Given the description of an element on the screen output the (x, y) to click on. 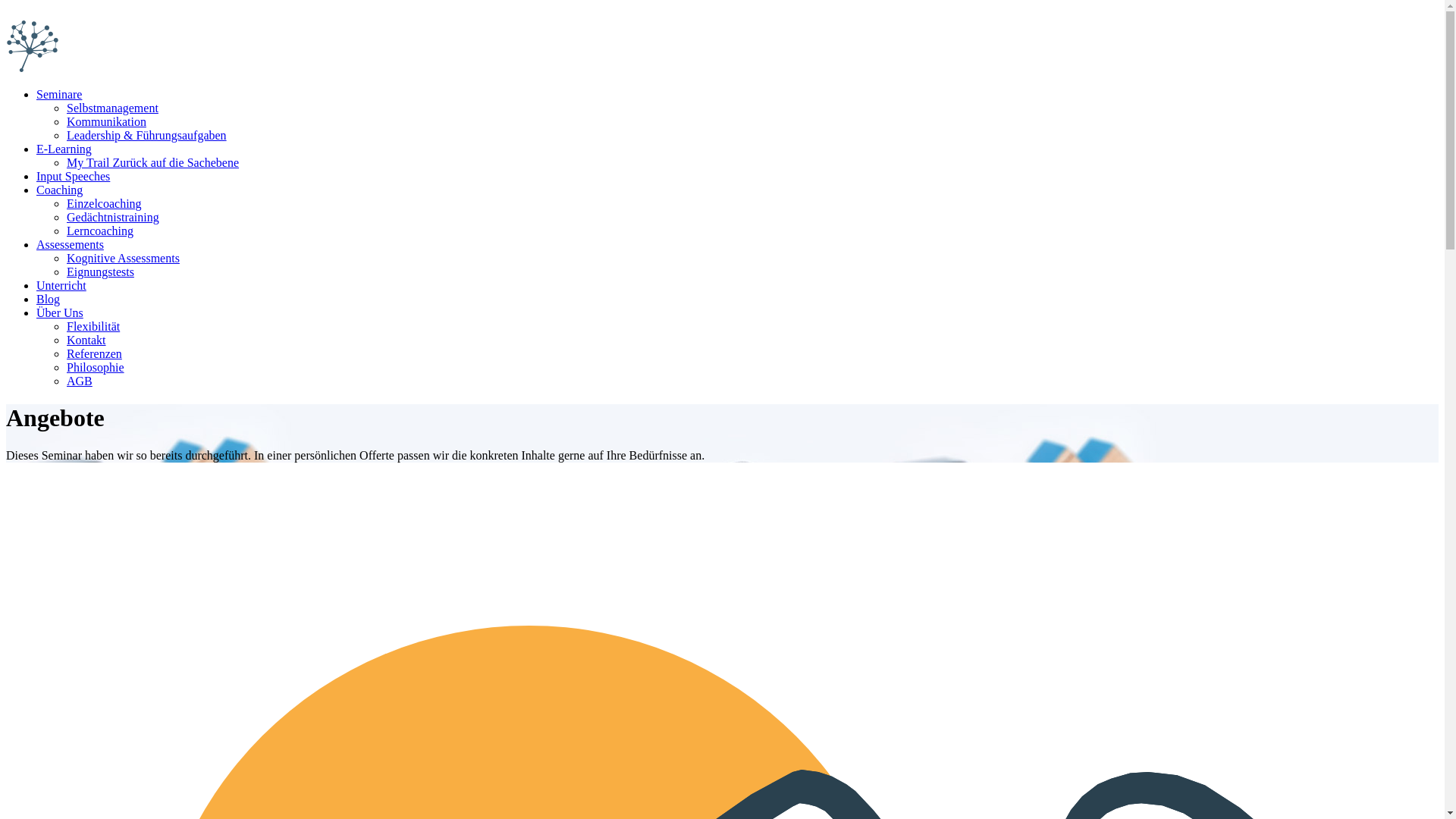
Blog Element type: text (47, 298)
Unterricht Element type: text (61, 285)
Kommunikation Element type: text (106, 121)
Kognitive Assessments Element type: text (122, 257)
Referenzen Element type: text (94, 353)
Eignungstests Element type: text (100, 271)
Lerncoaching Element type: text (99, 230)
Coaching Element type: text (59, 189)
Einzelcoaching Element type: text (103, 203)
E-Learning Element type: text (63, 148)
Kontakt Element type: text (86, 339)
AGB Element type: text (79, 380)
Selbstmanagement Element type: text (112, 107)
Input Speeches Element type: text (72, 175)
Seminare Element type: text (58, 93)
Philosophie Element type: text (95, 366)
Assessements Element type: text (69, 244)
